Given the description of an element on the screen output the (x, y) to click on. 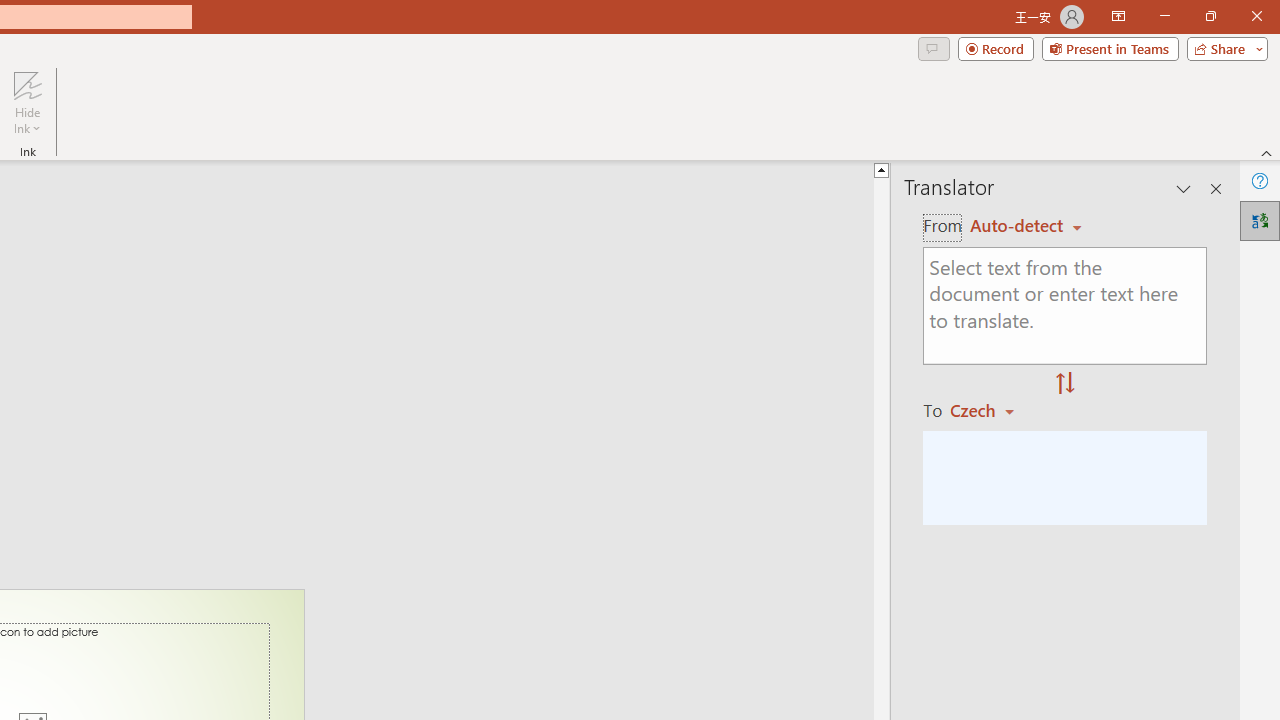
Czech (991, 409)
Swap "from" and "to" languages. (1065, 383)
Hide Ink (27, 84)
